Given the description of an element on the screen output the (x, y) to click on. 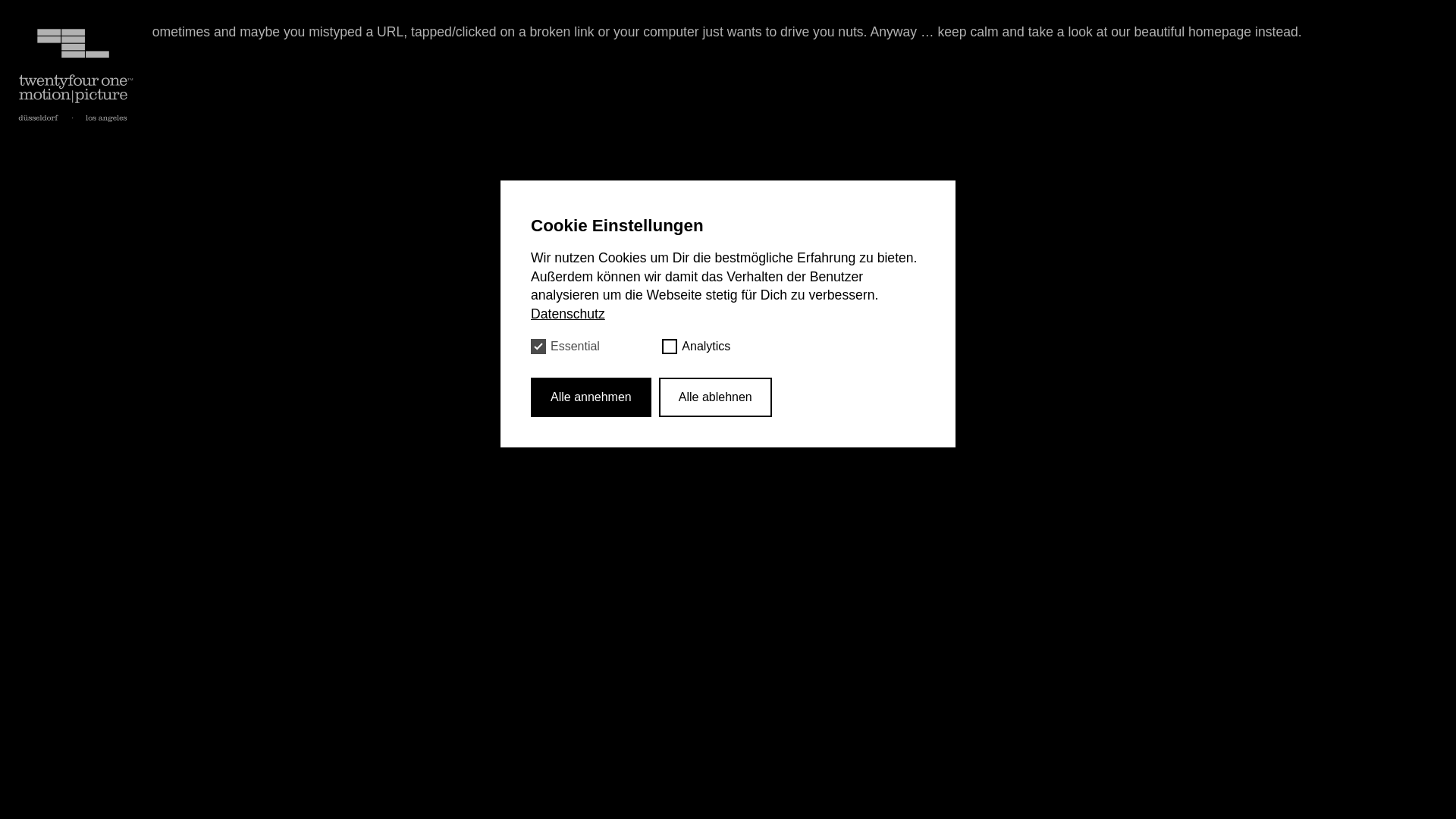
Alle annehmen Element type: text (590, 396)
Datenschutz Element type: text (567, 313)
Alle ablehnen Element type: text (714, 396)
homepage Element type: text (1219, 31)
